Given the description of an element on the screen output the (x, y) to click on. 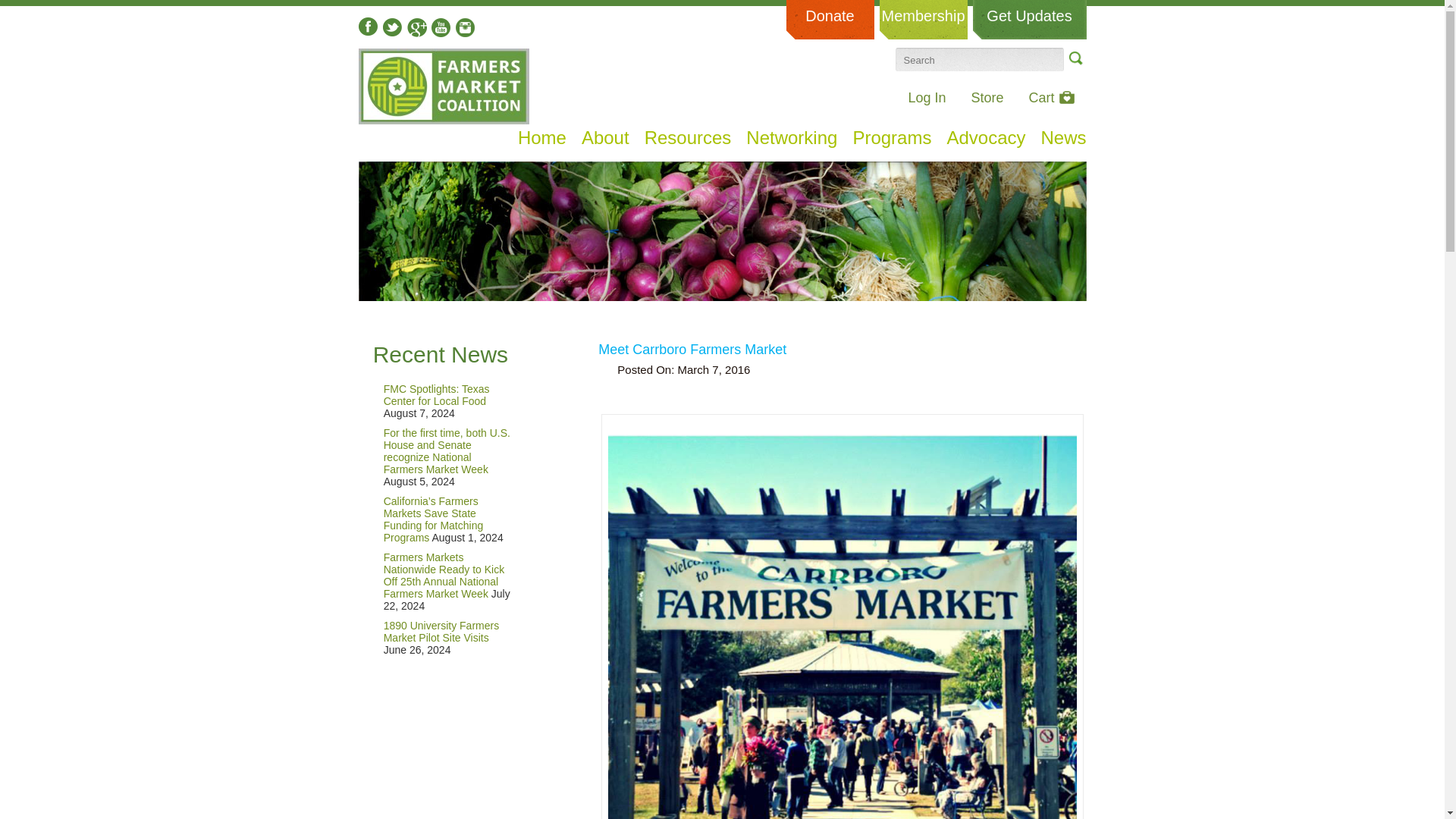
Store (987, 97)
Networking (791, 137)
News (1063, 137)
Donate (829, 19)
Cart (1050, 97)
Search (1074, 58)
Log In (925, 97)
Skip to content (385, 132)
Membership (923, 19)
Programs (891, 137)
